Given the description of an element on the screen output the (x, y) to click on. 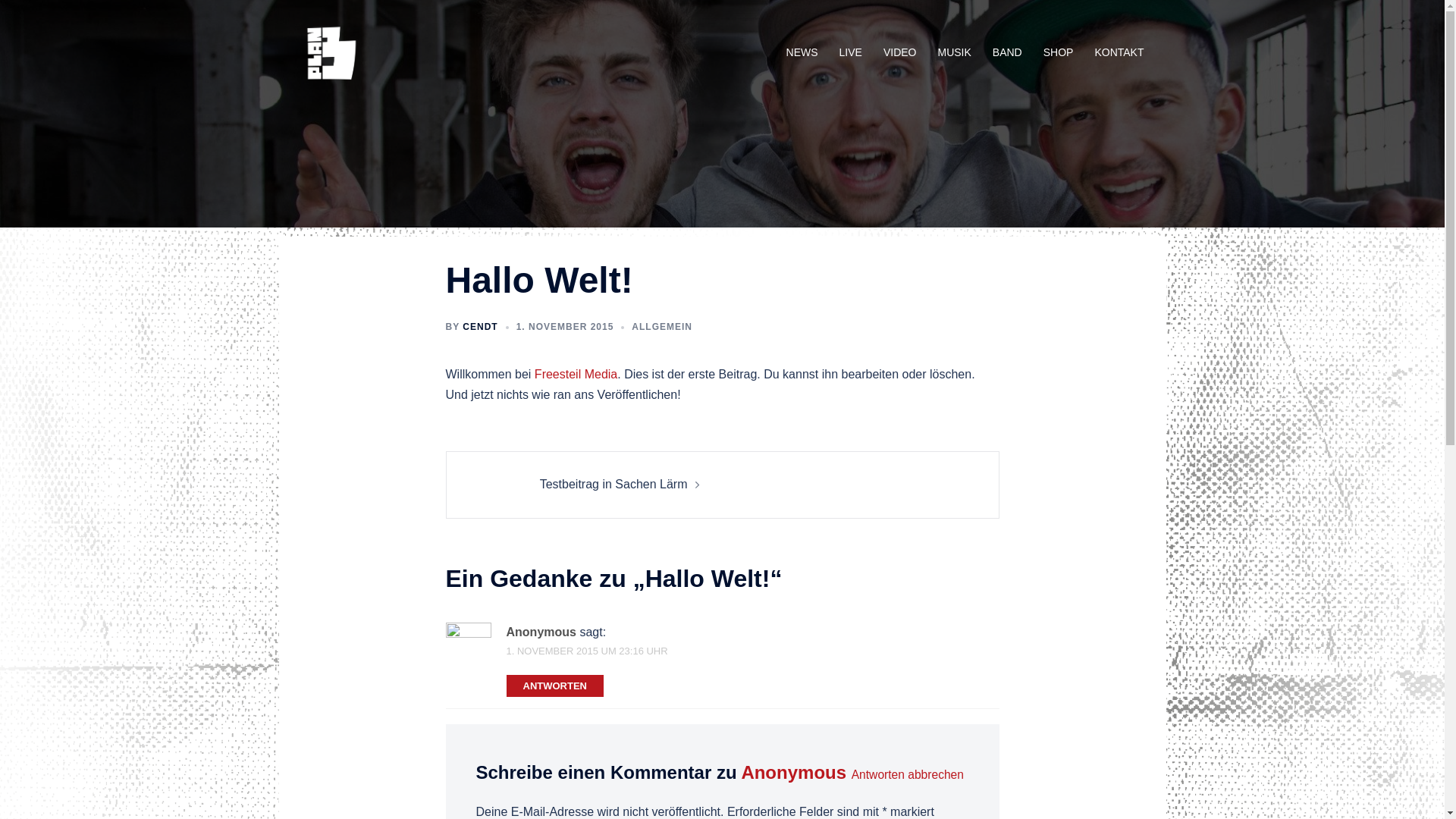
NEWS Element type: text (802, 52)
KONTAKT Element type: text (1118, 52)
1. NOVEMBER 2015 Element type: text (565, 326)
Anonymous Element type: text (793, 772)
1. NOVEMBER 2015 UM 23:16 UHR Element type: text (587, 650)
MUSIK Element type: text (953, 52)
SHOP Element type: text (1058, 52)
BAND Element type: text (1007, 52)
ALLGEMEIN Element type: text (661, 326)
Antworten abbrechen Element type: text (907, 774)
VIDEO Element type: text (899, 52)
CENDT Element type: text (479, 326)
Plan B Element type: hover (327, 51)
LIVE Element type: text (850, 52)
ANTWORTEN Element type: text (555, 685)
Freesteil Media Element type: text (575, 373)
